Given the description of an element on the screen output the (x, y) to click on. 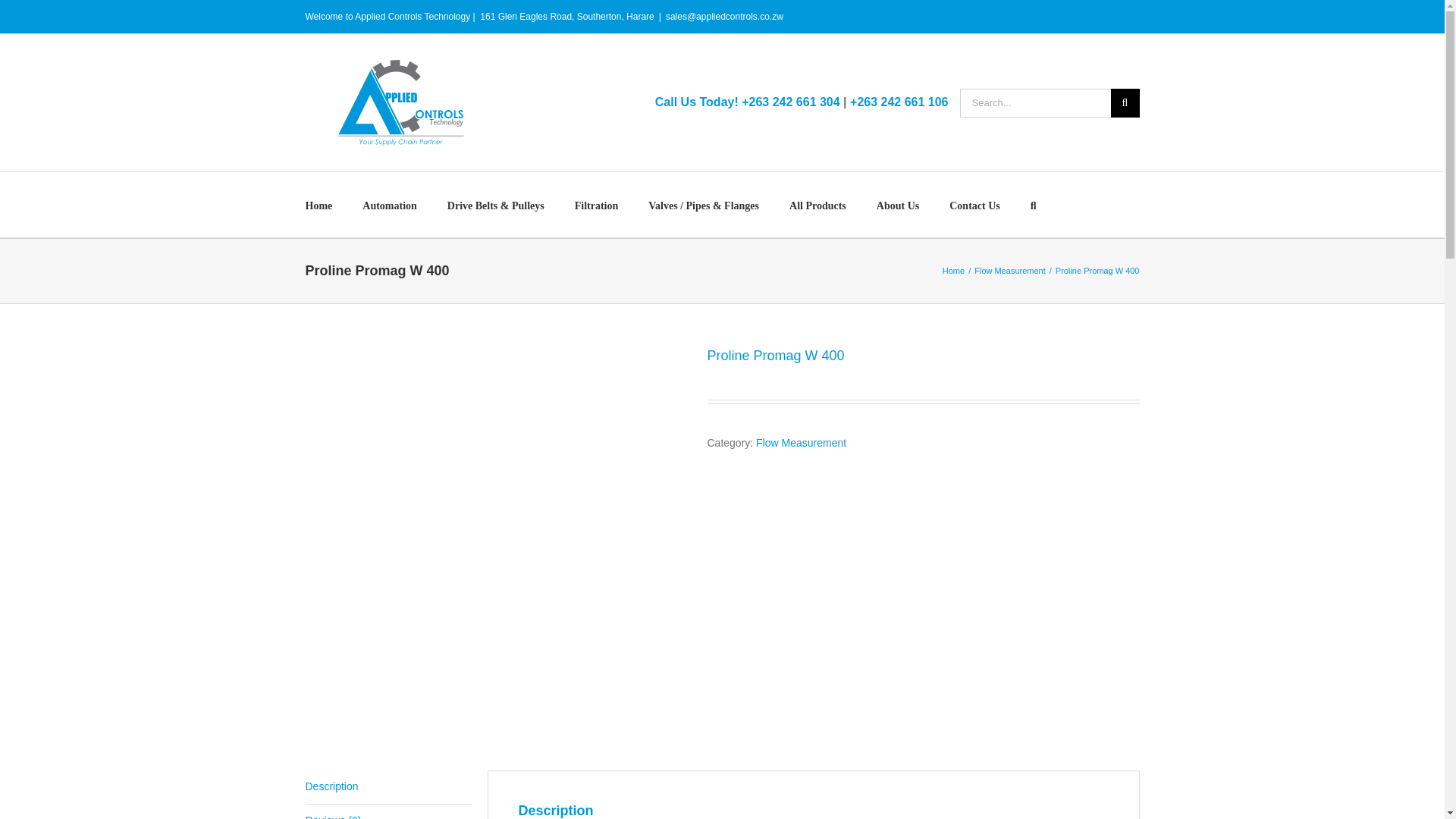
Home (952, 270)
Flow Measurement (1009, 270)
Description (387, 787)
Flow Measurement (800, 442)
